Given the description of an element on the screen output the (x, y) to click on. 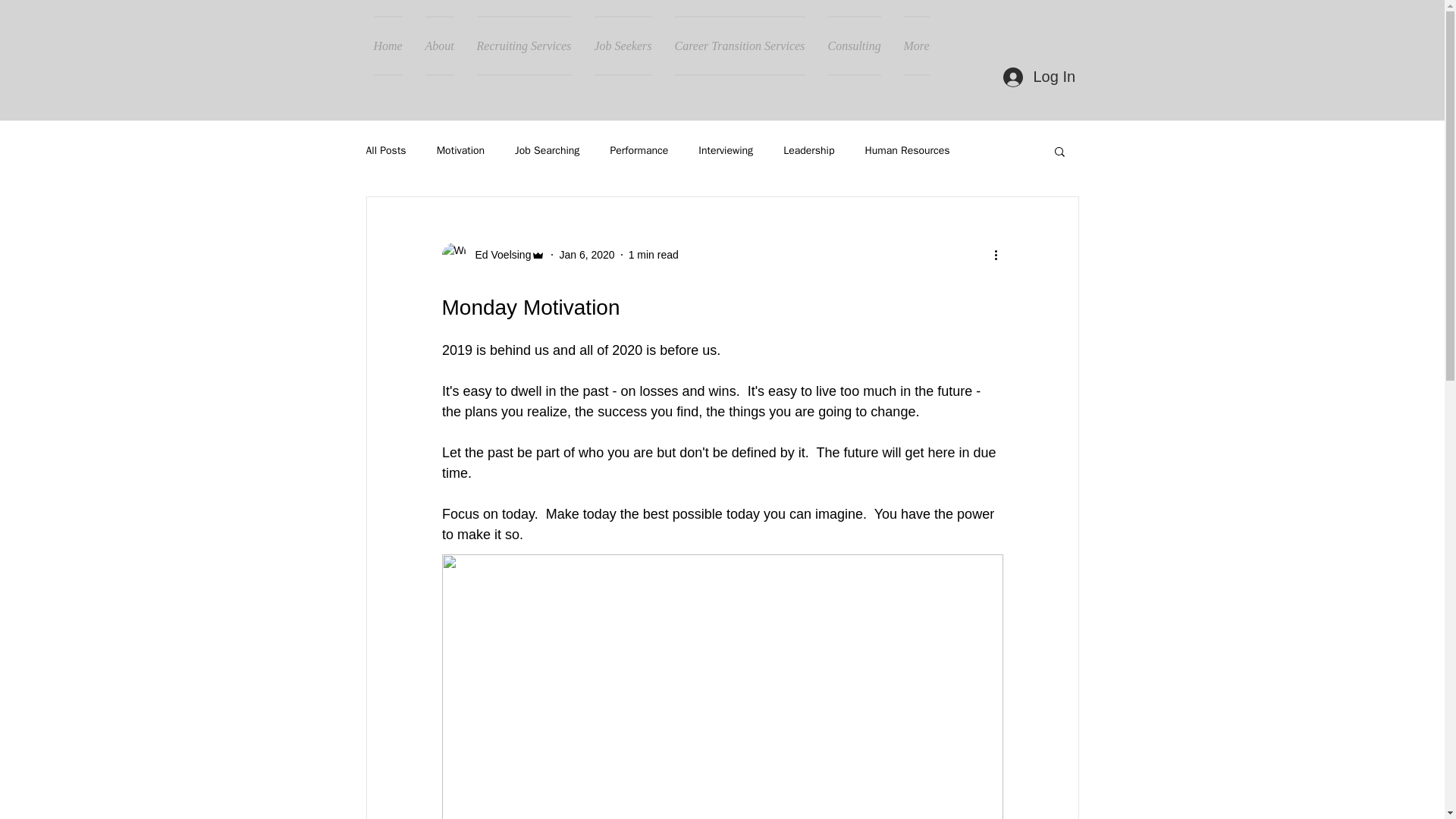
Leadership (808, 151)
Ed Voelsing (498, 254)
Performance (639, 151)
Human Resources (906, 151)
Recruiting Services (524, 45)
1 min read (653, 254)
Ed Voelsing (492, 254)
Log In (1037, 76)
All Posts (385, 151)
Motivation (460, 151)
